Given the description of an element on the screen output the (x, y) to click on. 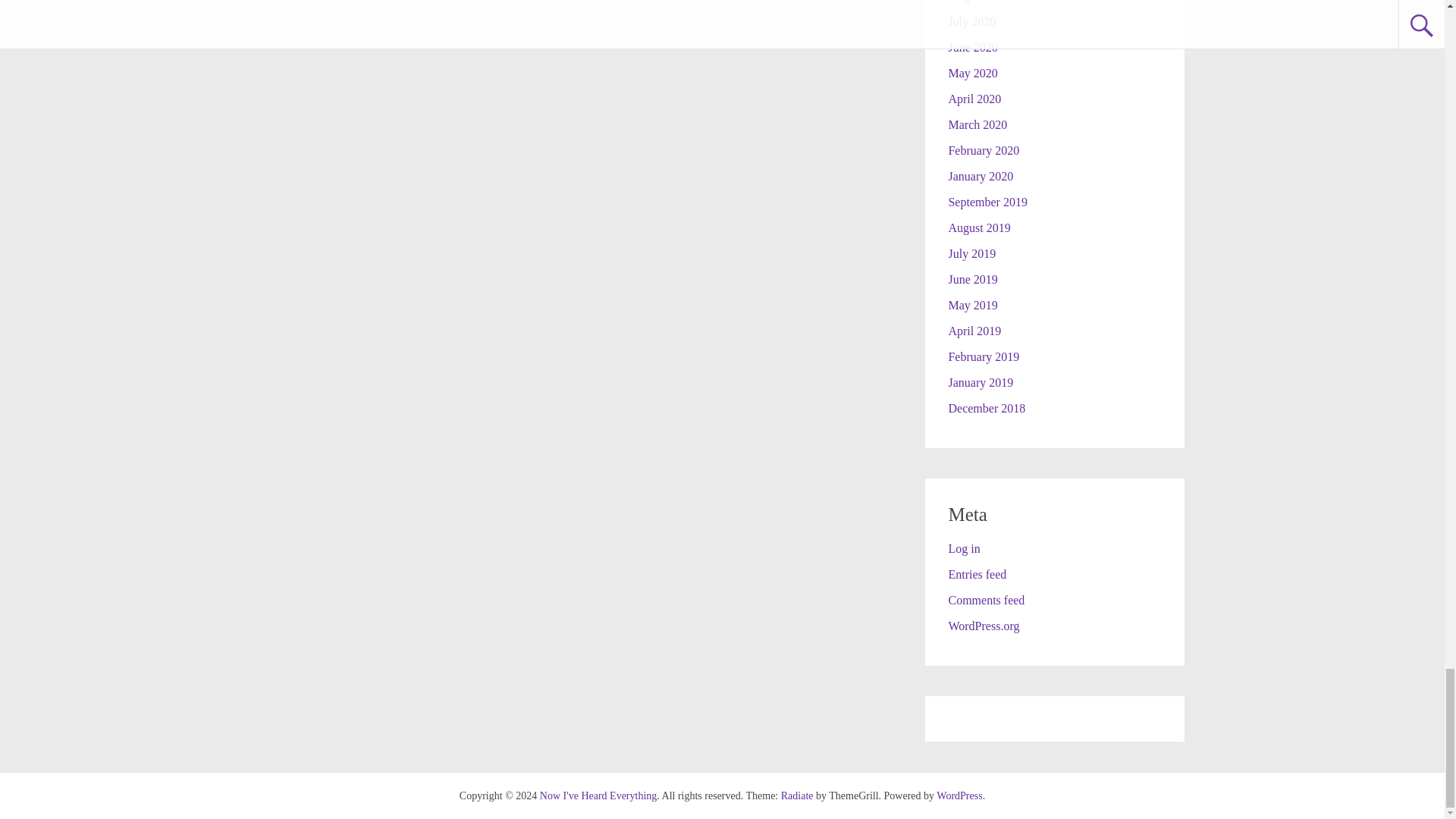
Now I've Heard Everything (599, 795)
Radiate (796, 795)
WordPress (958, 795)
